Given the description of an element on the screen output the (x, y) to click on. 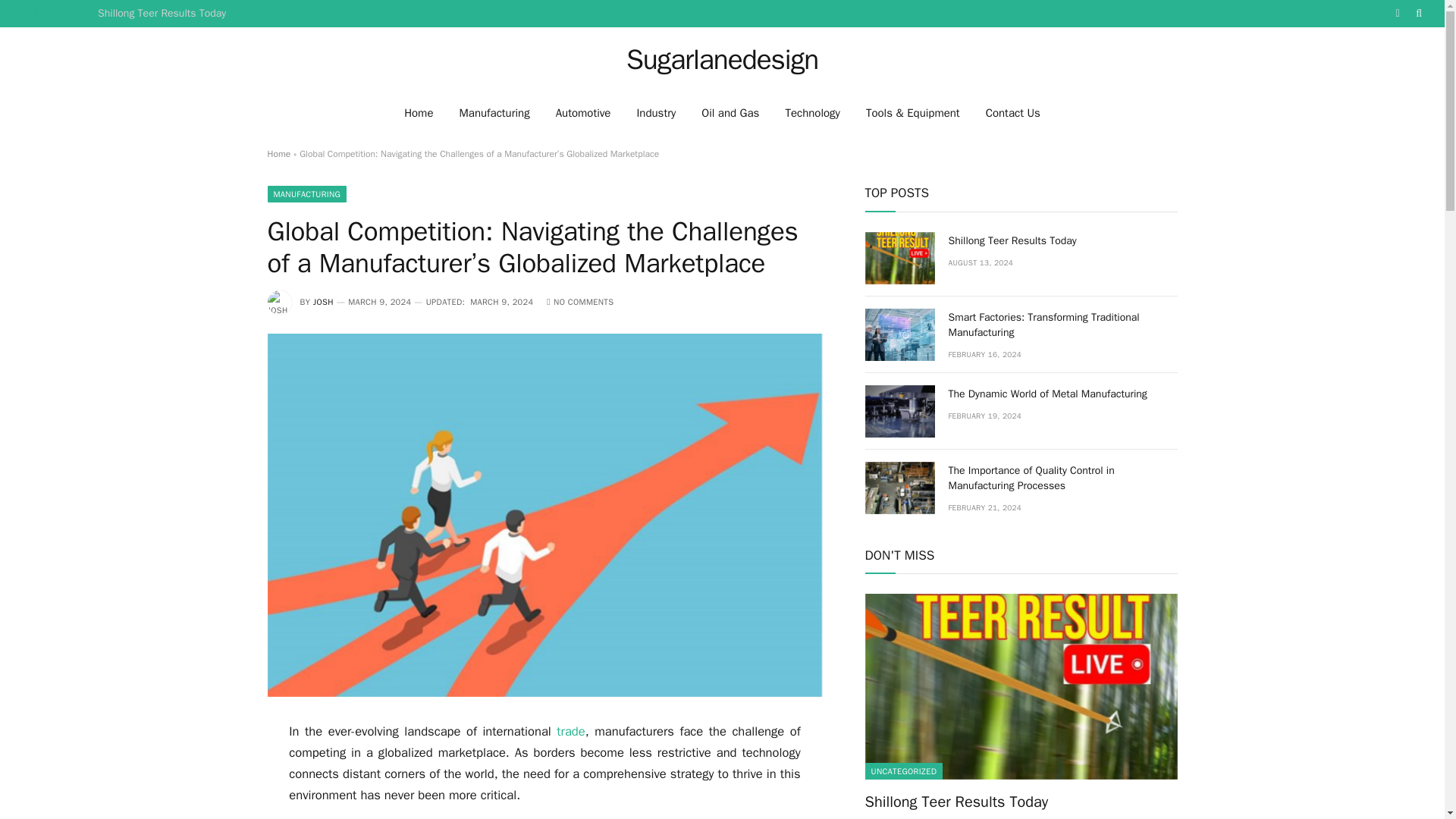
Manufacturing (493, 112)
Technology (812, 112)
Home (418, 112)
Switch to Dark Design - easier on eyes. (1397, 13)
Automotive (583, 112)
Sugarlanedesign (722, 59)
Shillong Teer Results Today (164, 13)
Posts by Josh (323, 301)
Oil and Gas (729, 112)
Contact Us (1012, 112)
